Given the description of an element on the screen output the (x, y) to click on. 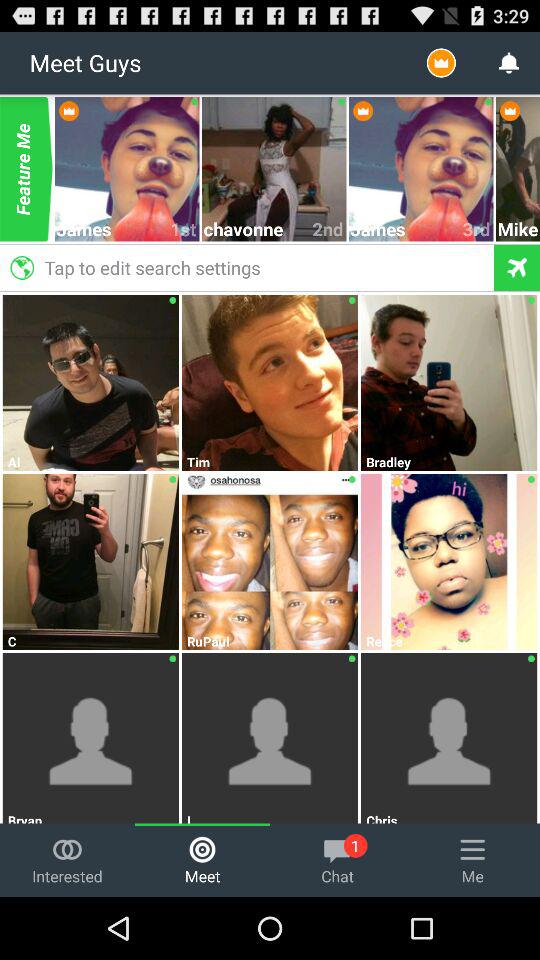
flip until the feature me (26, 169)
